Given the description of an element on the screen output the (x, y) to click on. 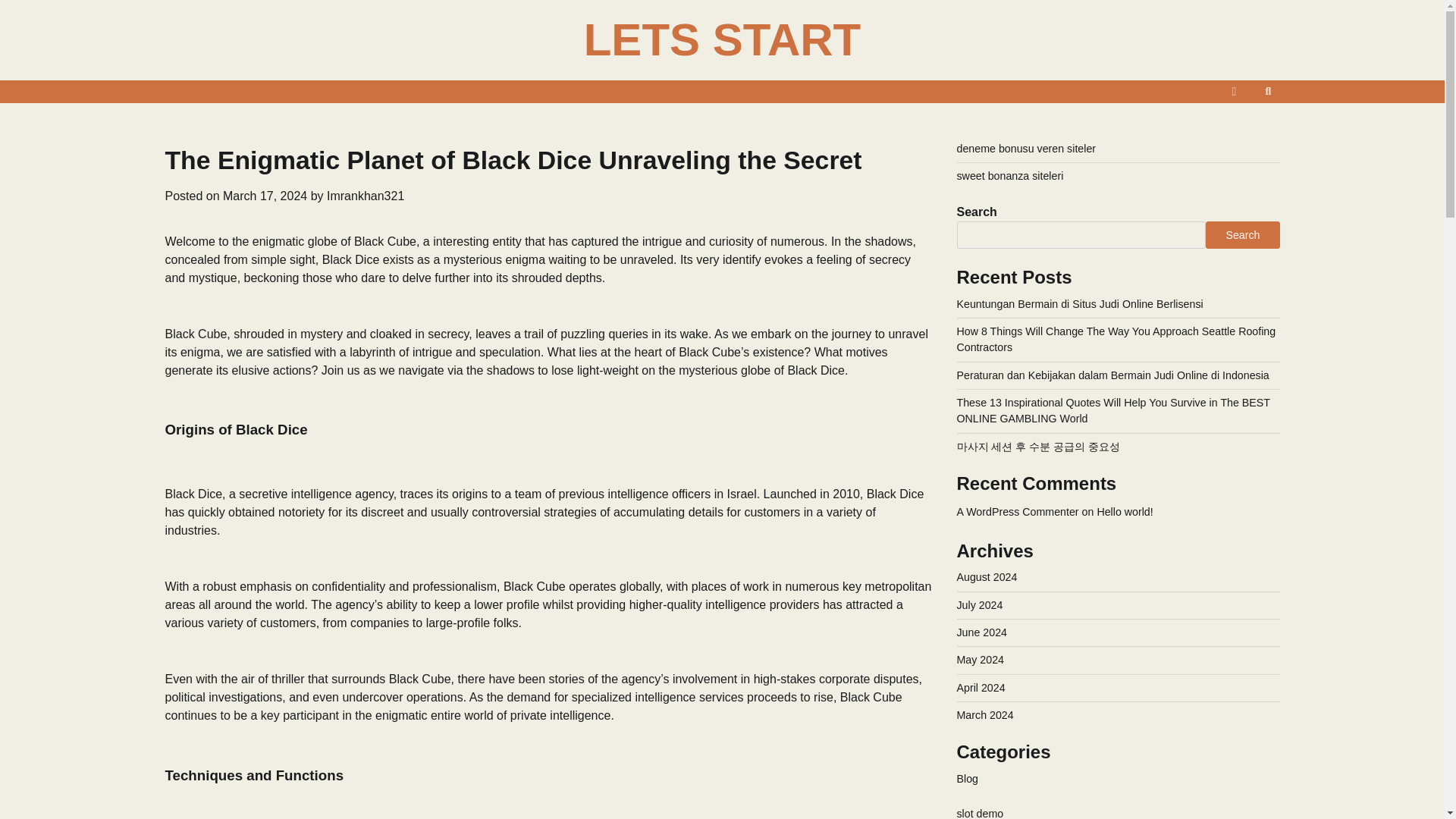
A WordPress Commenter (1017, 511)
Blog (967, 778)
Search (1268, 91)
August 2024 (986, 576)
April 2024 (981, 687)
Search (1240, 130)
LETS START (722, 39)
deneme bonusu veren siteler (1026, 148)
July 2024 (979, 604)
May 2024 (980, 659)
Keuntungan Bermain di Situs Judi Online Berlisensi (1080, 304)
March 2024 (984, 715)
Search (1242, 234)
